Given the description of an element on the screen output the (x, y) to click on. 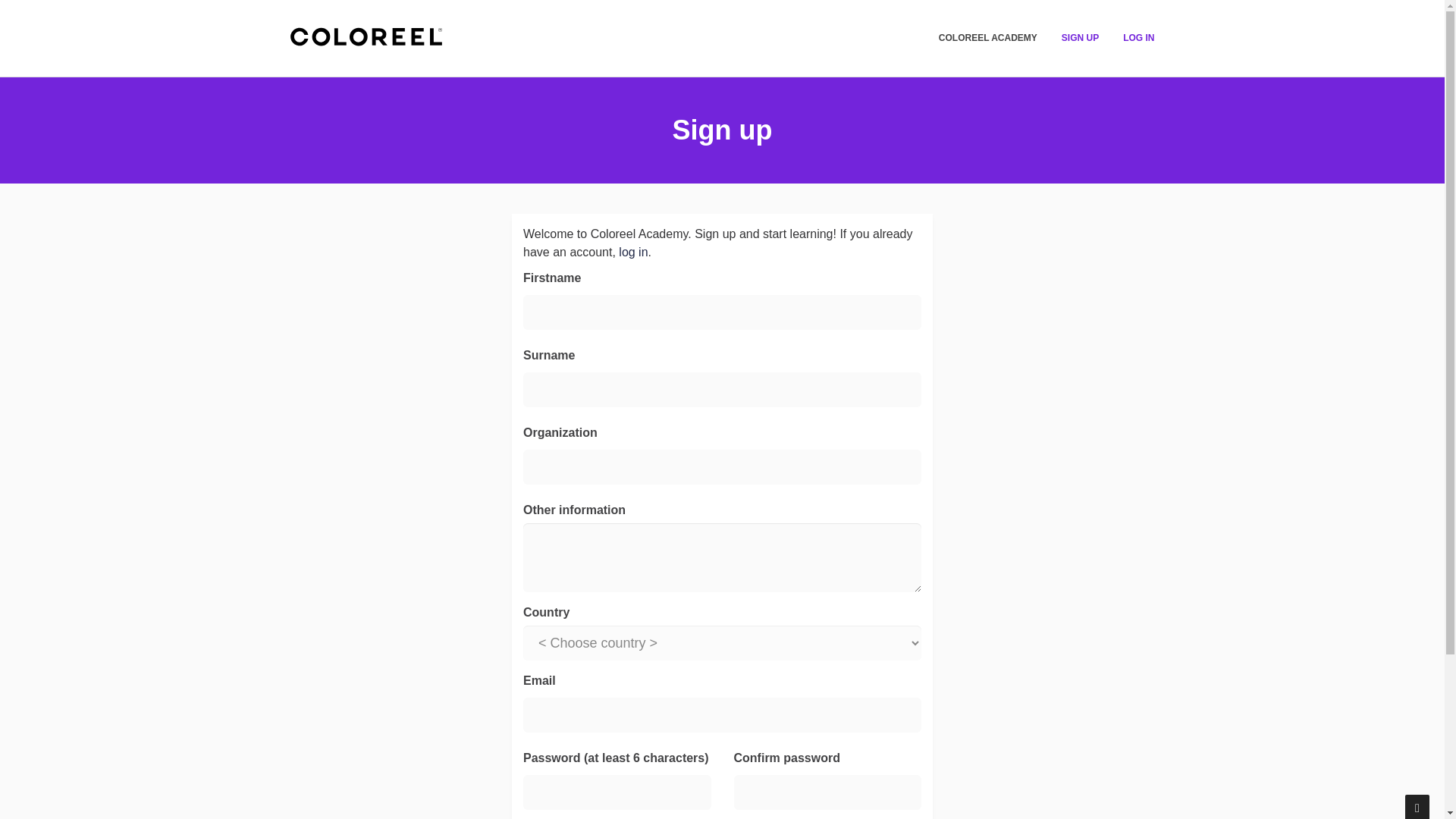
COLOREEL ACADEMY (987, 38)
SIGN UP (1079, 38)
LOG IN (1139, 38)
log in (631, 251)
